Given the description of an element on the screen output the (x, y) to click on. 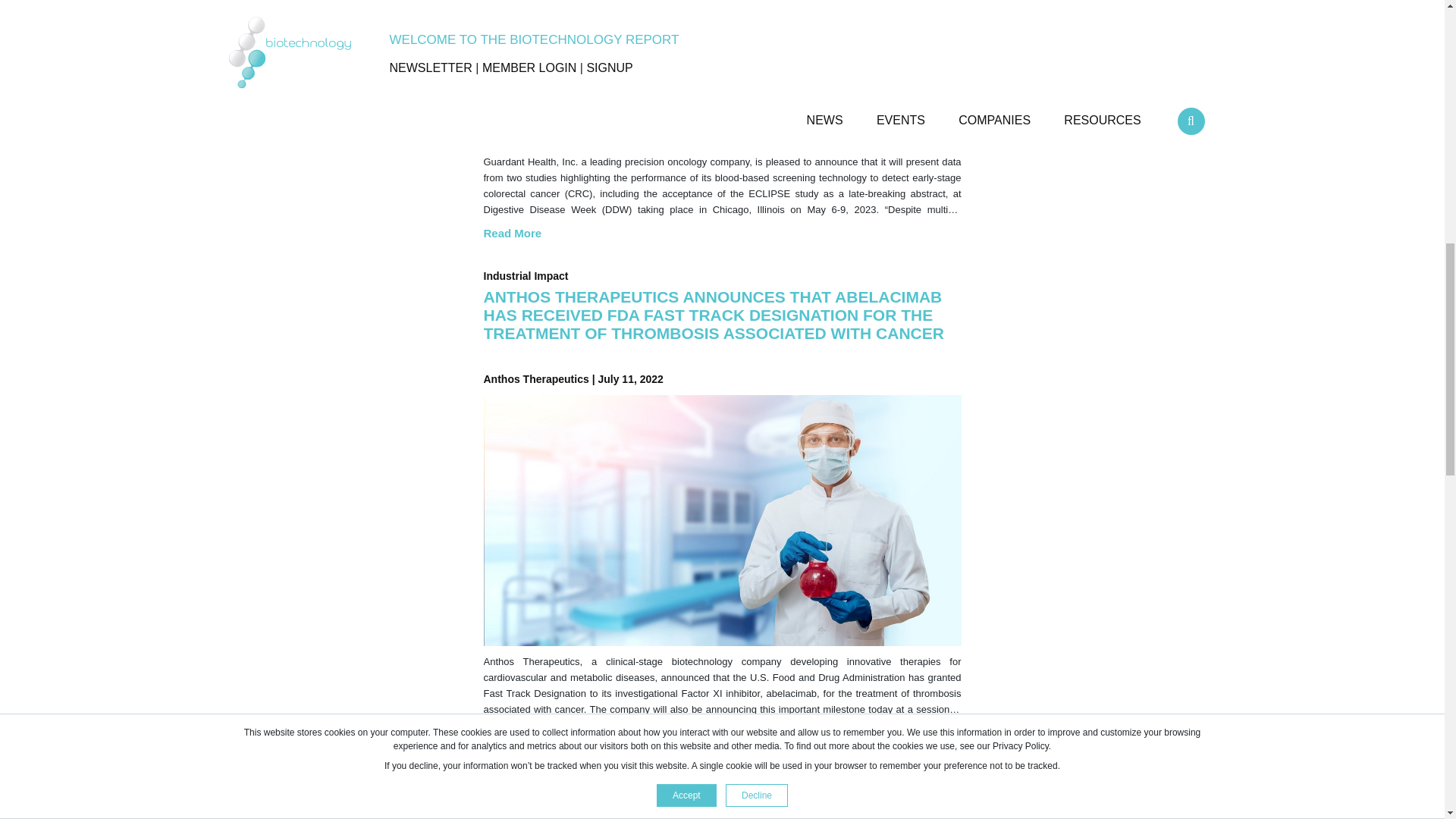
Advertisement (1094, 27)
